Given the description of an element on the screen output the (x, y) to click on. 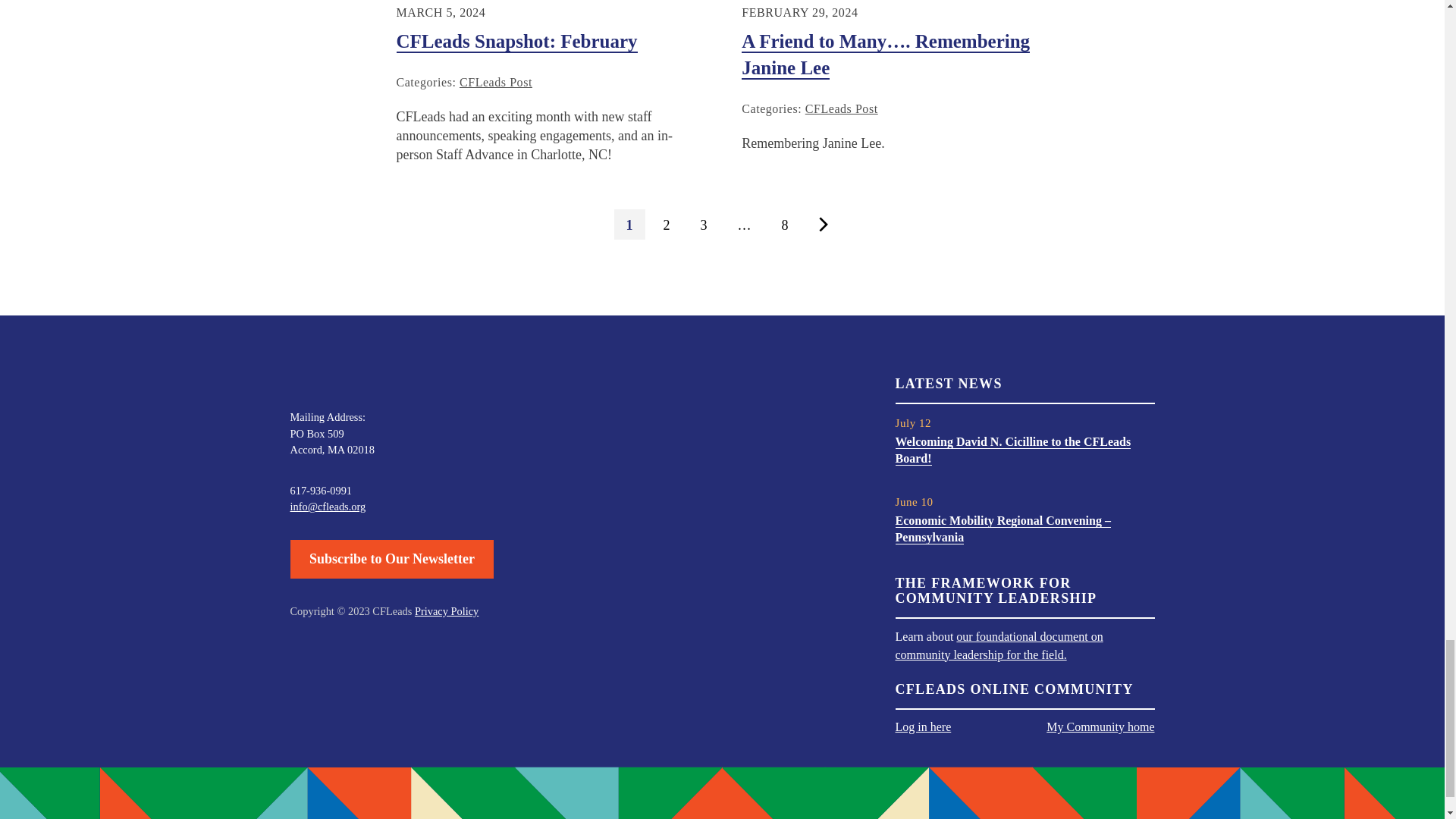
CFLeads Snapshot: February (516, 42)
